Given the description of an element on the screen output the (x, y) to click on. 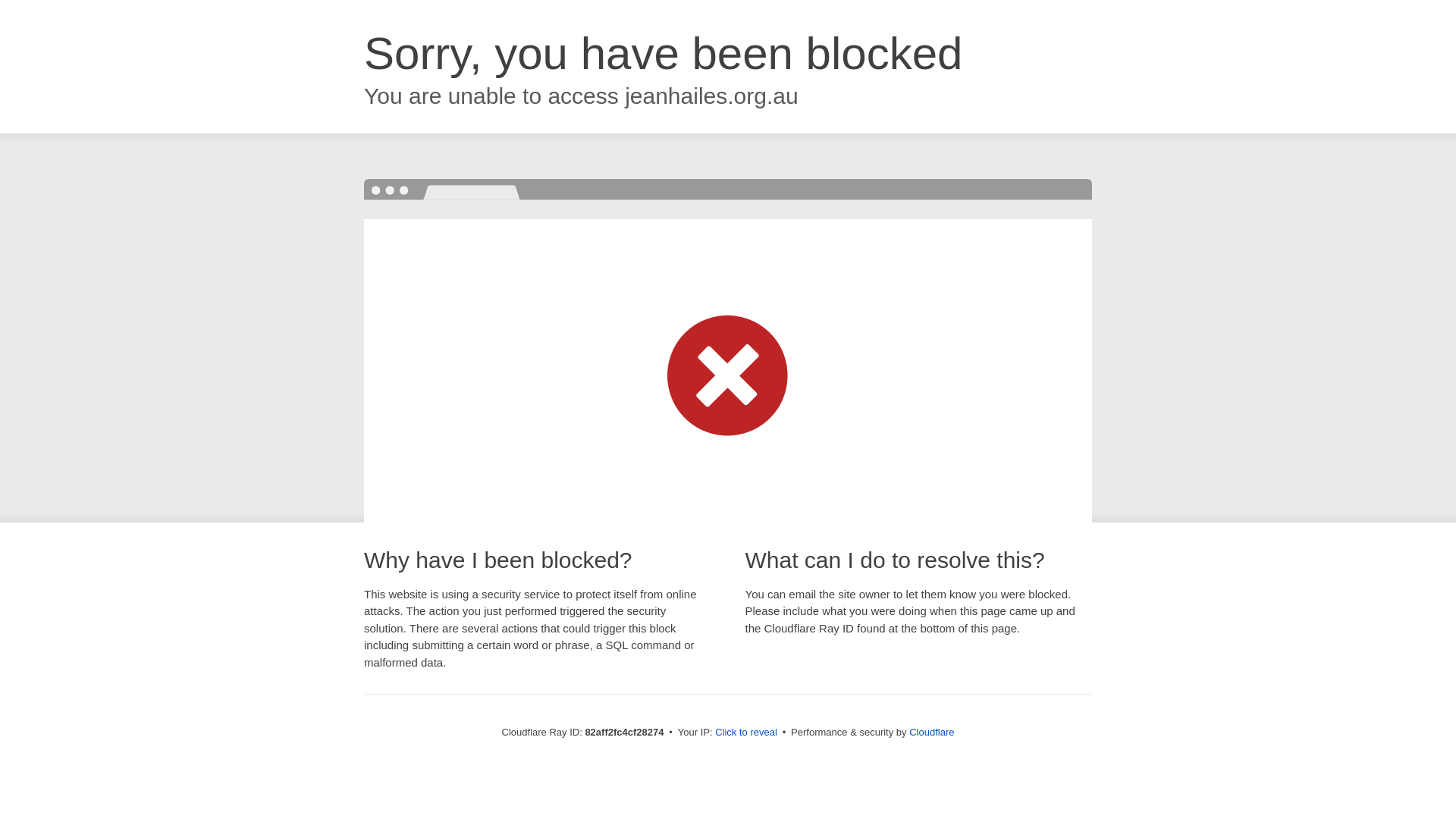
Cloudflare Element type: text (931, 731)
Click to reveal Element type: text (746, 732)
